Given the description of an element on the screen output the (x, y) to click on. 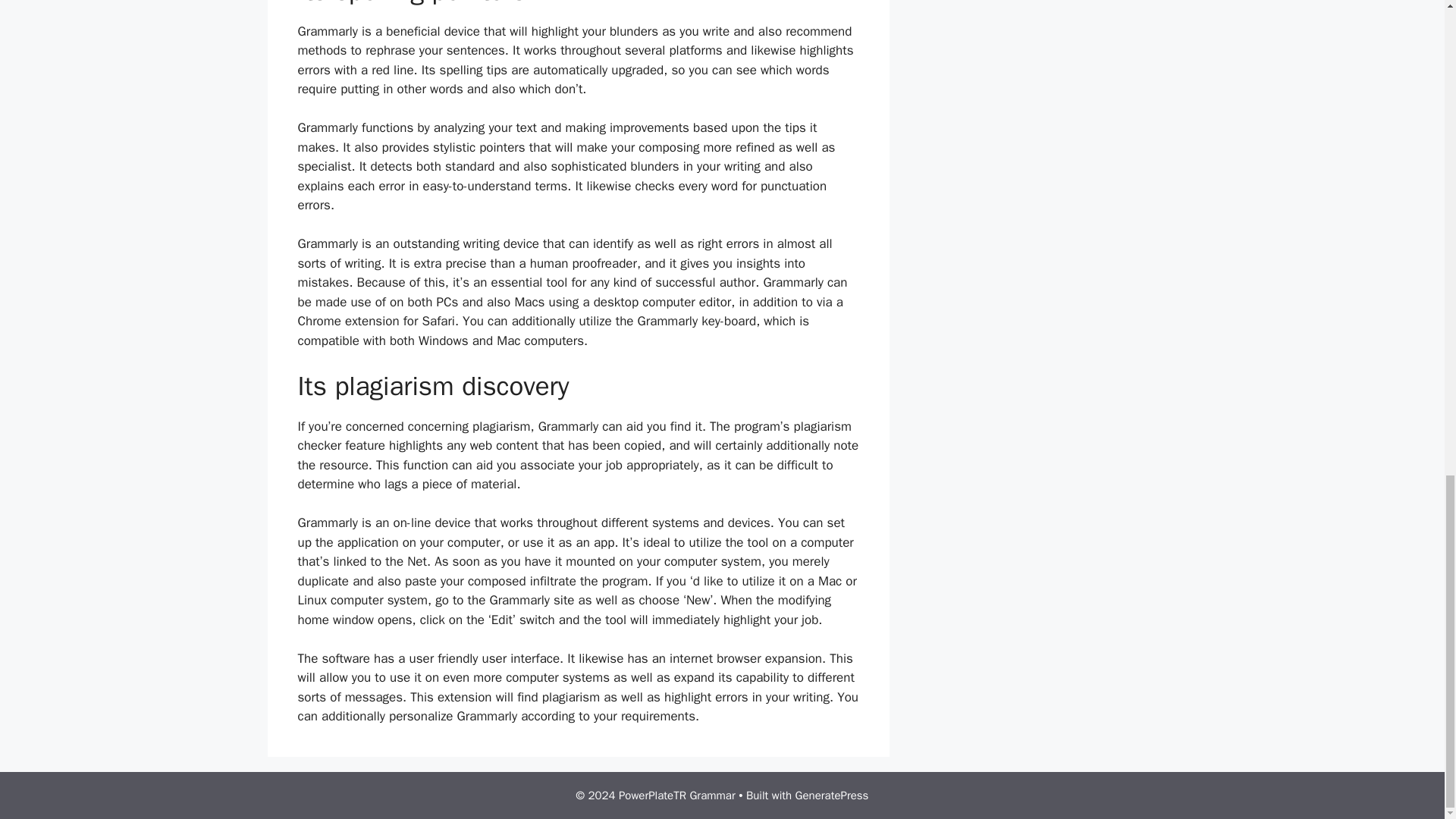
GeneratePress (831, 795)
